Given the description of an element on the screen output the (x, y) to click on. 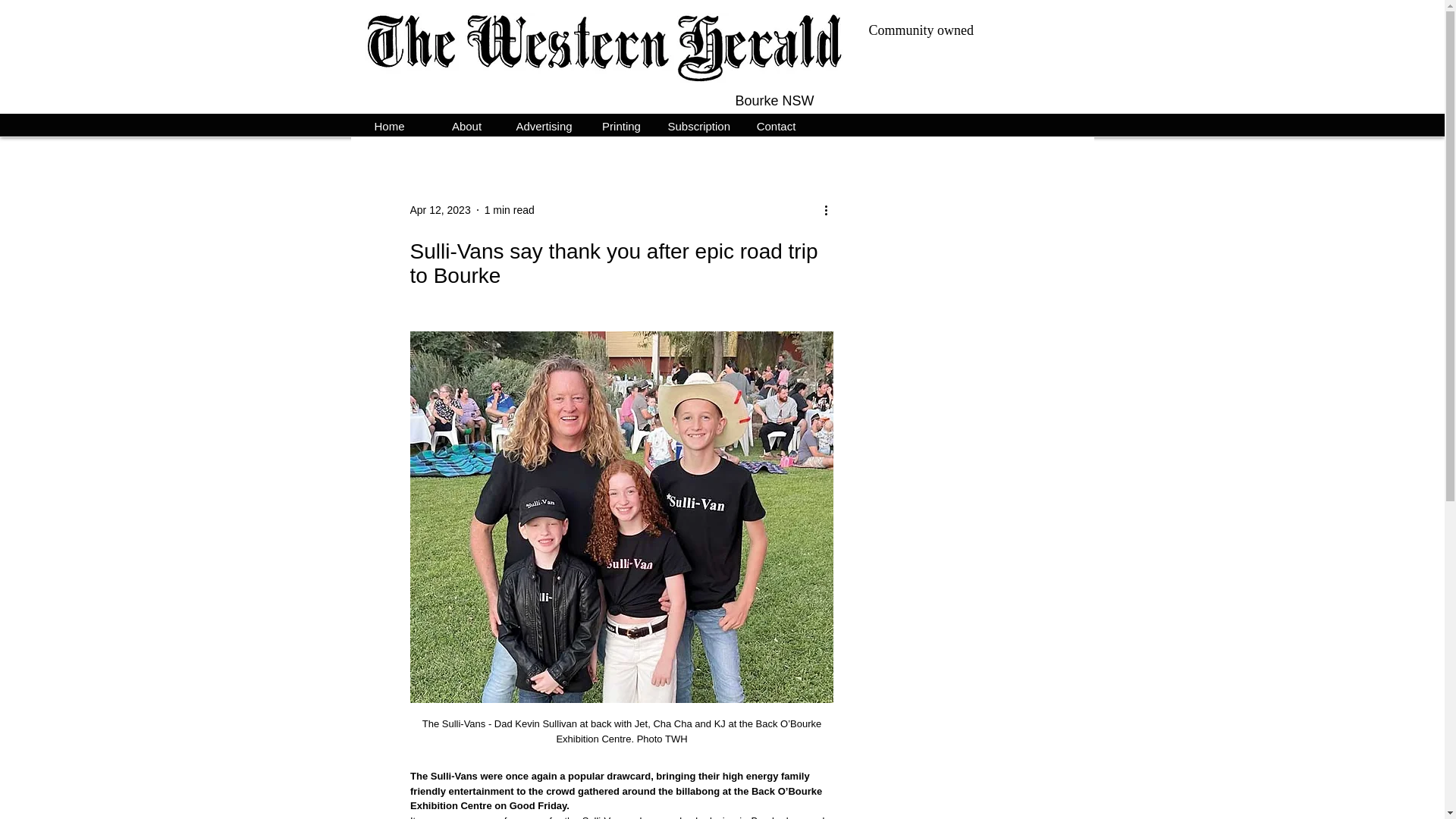
Subscription (697, 124)
Advertising (543, 124)
1 min read (509, 209)
Contact (774, 124)
Apr 12, 2023 (439, 209)
Printing (620, 124)
Home (389, 124)
About (466, 124)
